Given the description of an element on the screen output the (x, y) to click on. 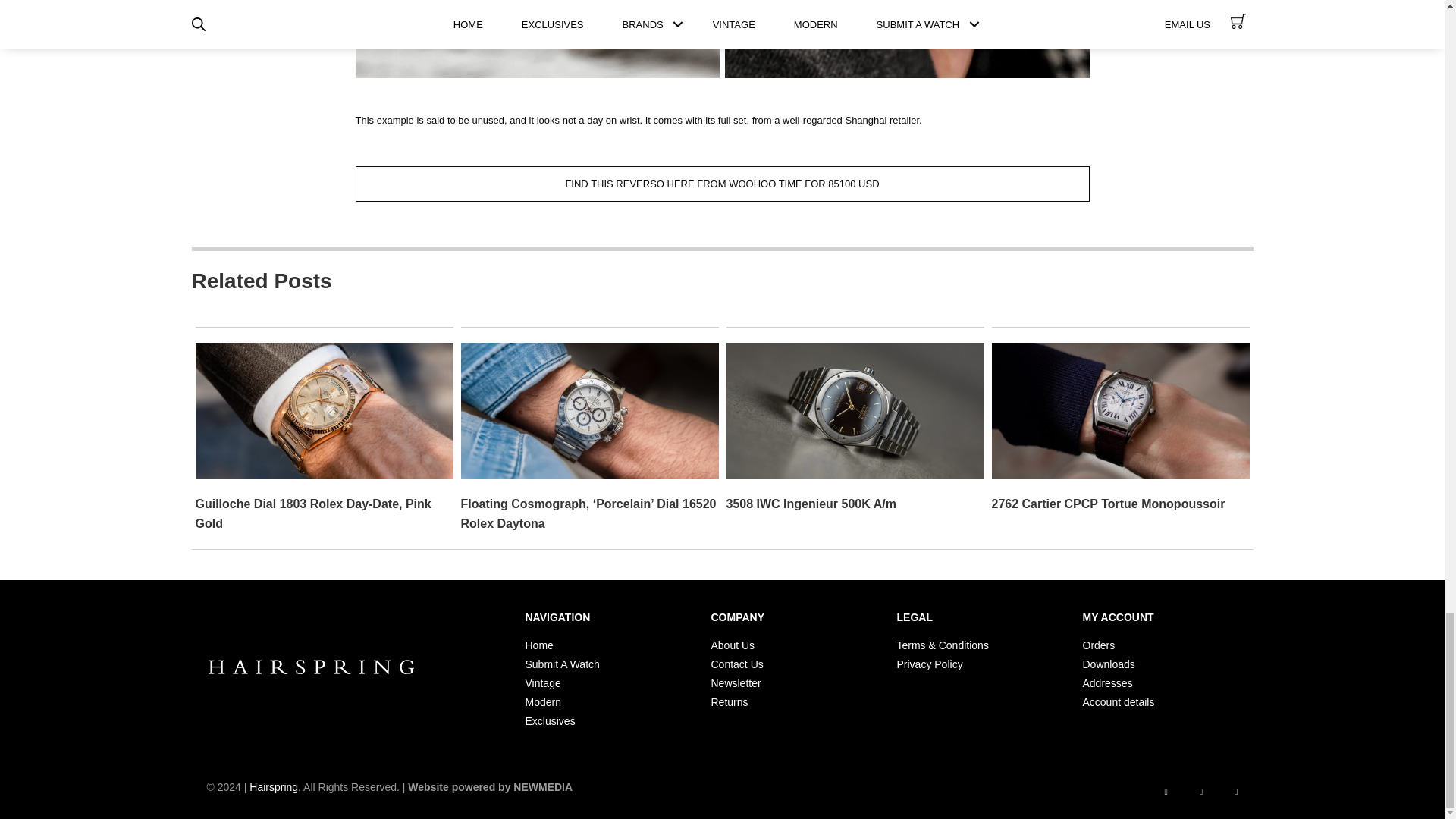
Hairspring-Footer (310, 667)
2762 Cartier CPCP Tortue Monopoussoir (1120, 409)
Guilloche Dial 1803 Rolex Day-Date, Pink Gold (323, 409)
Guilloche Dial 1803 Rolex Day-Date, Pink Gold (312, 513)
2762 Cartier CPCP Tortue Monopoussoir (1108, 503)
